Given the description of an element on the screen output the (x, y) to click on. 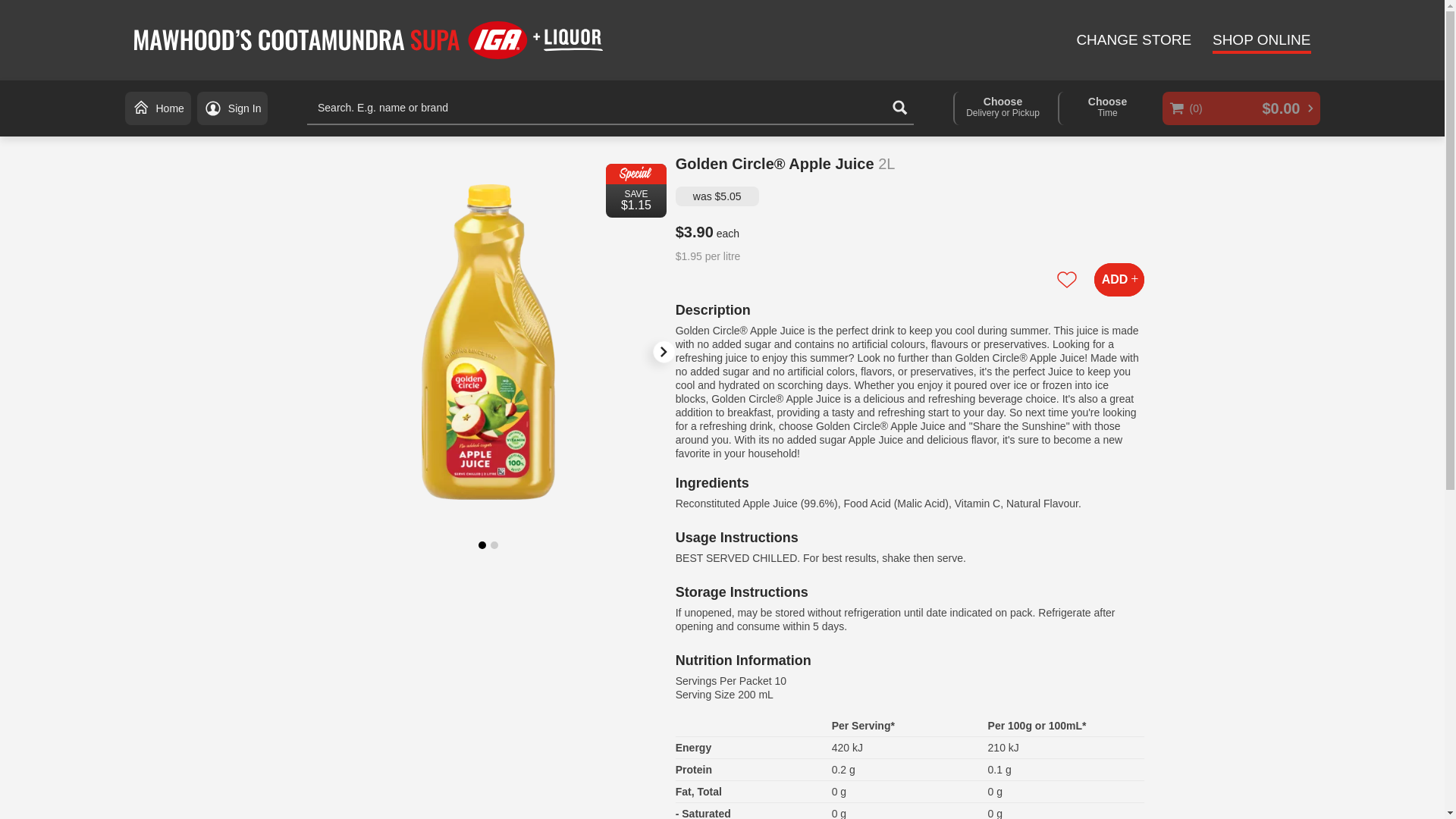
Choose Delivery or Pickup (1001, 108)
Home (156, 108)
SHOP ONLINE (1261, 42)
CHANGE STORE (1133, 40)
Sign In (231, 108)
Choose Time (1001, 108)
